Given the description of an element on the screen output the (x, y) to click on. 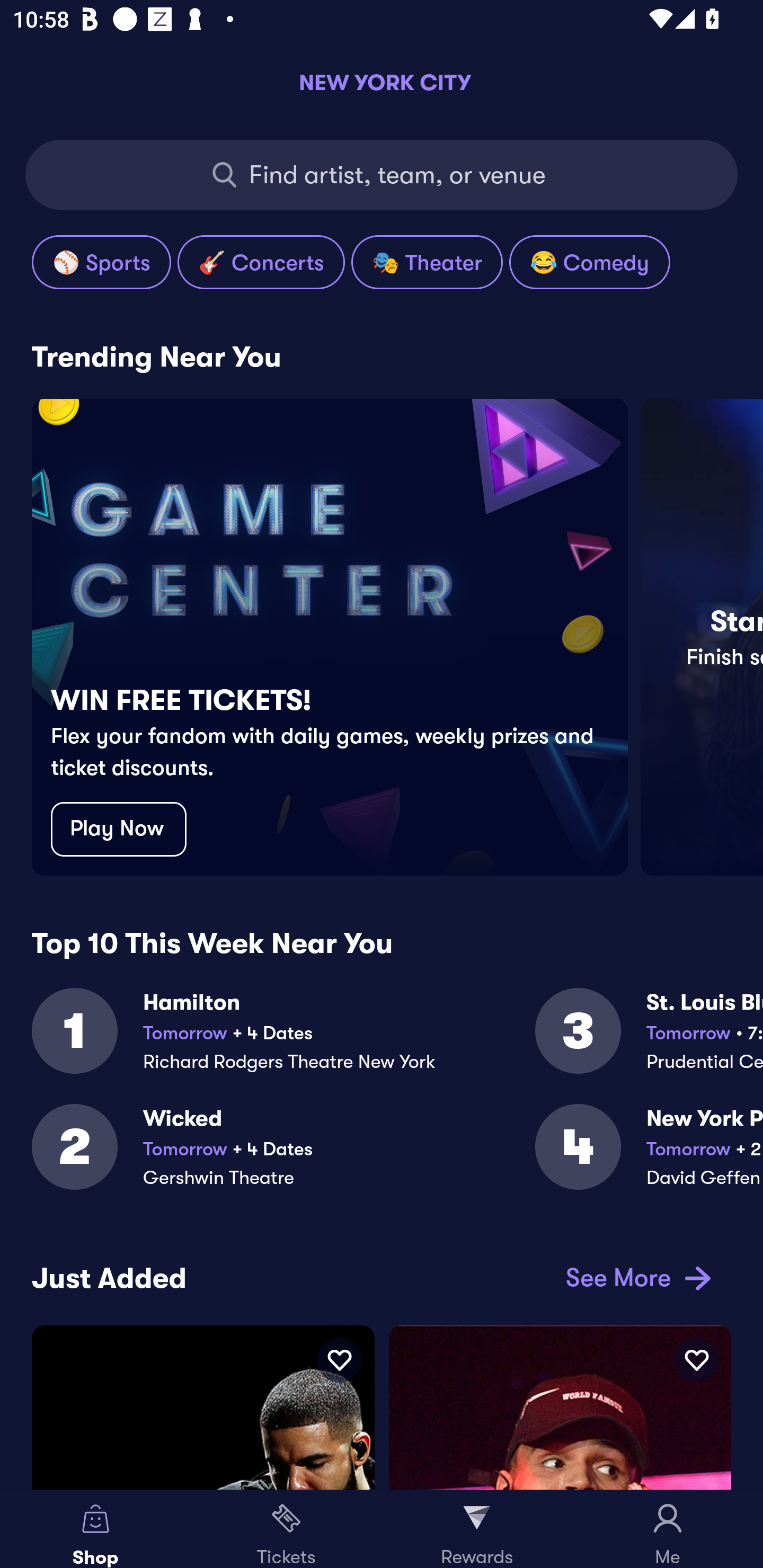
NEW YORK CITY (381, 81)
Find artist, team, or venue (381, 174)
⚾ Sports (101, 261)
🎸 Concerts (261, 261)
🎭 Theater (426, 261)
😂 Comedy (589, 261)
2 Wicked Tomorrow  + 4 Dates Gershwin Theatre (283, 1158)
See More (635, 1277)
icon button (339, 1359)
icon button (696, 1359)
Shop (95, 1529)
Tickets (285, 1529)
Rewards (476, 1529)
Me (667, 1529)
